Given the description of an element on the screen output the (x, y) to click on. 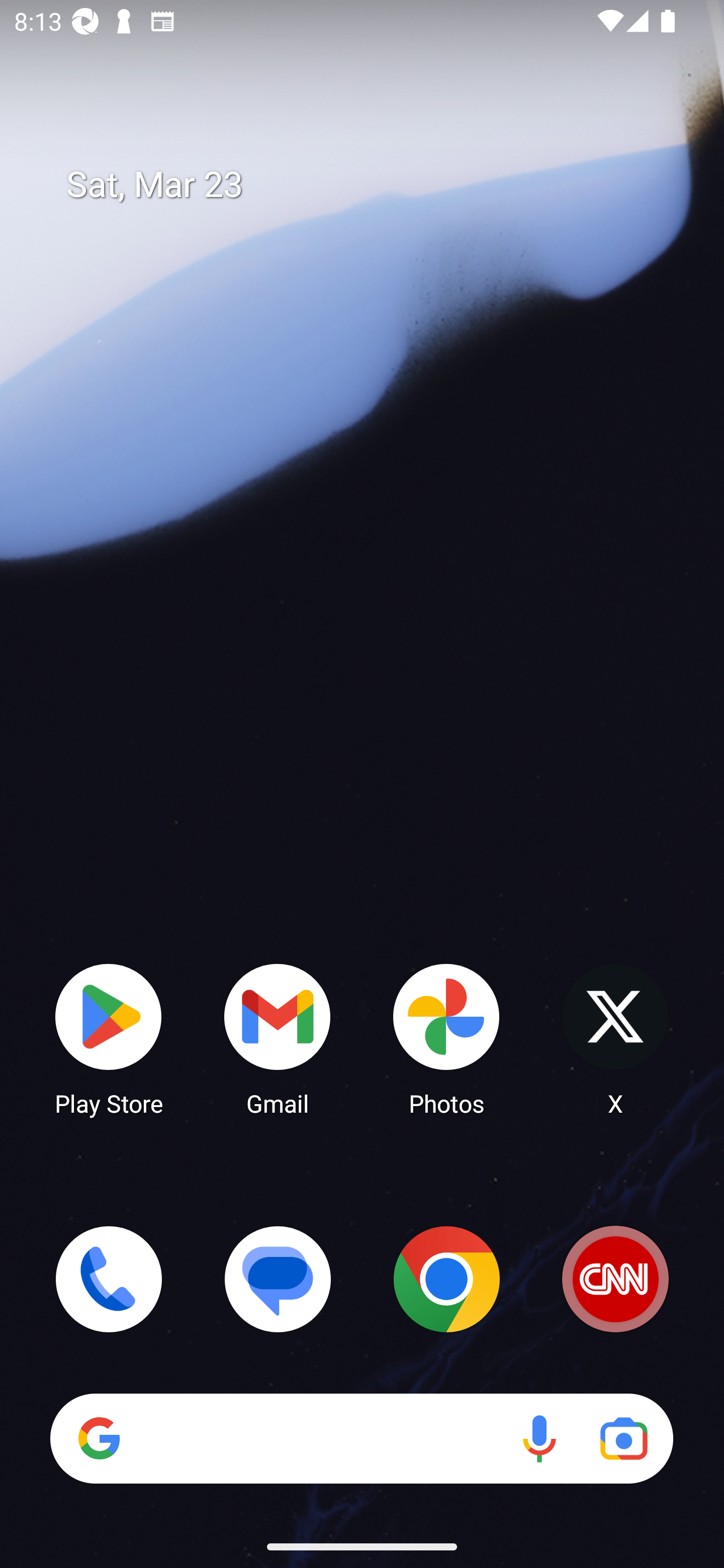
Sat, Mar 23 (375, 184)
Play Store (108, 1038)
Gmail (277, 1038)
Photos (445, 1038)
X (615, 1038)
Phone (108, 1279)
Messages (277, 1279)
Chrome (446, 1279)
CNN Predicted app: CNN (615, 1279)
Voice search (539, 1438)
Google Lens (623, 1438)
